Given the description of an element on the screen output the (x, y) to click on. 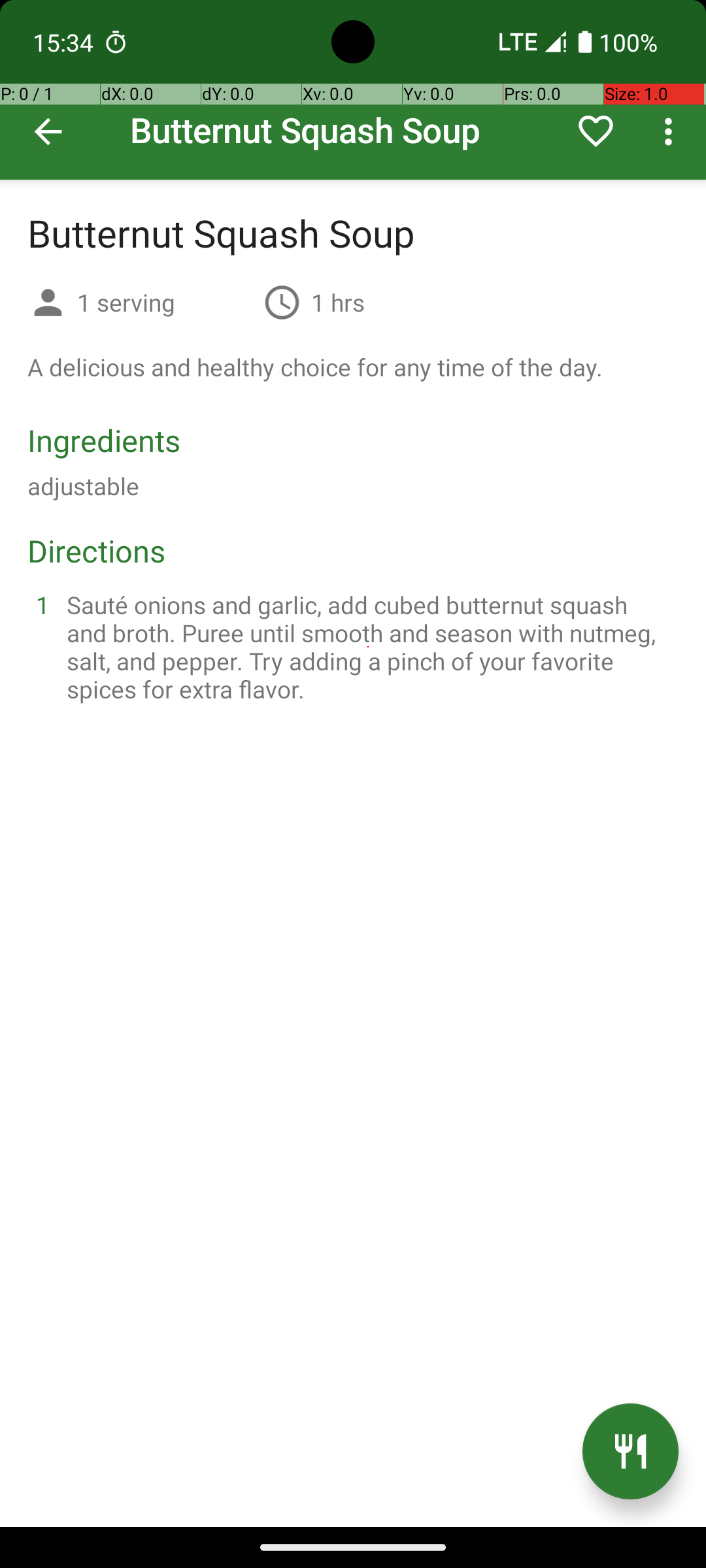
Sauté onions and garlic, add cubed butternut squash and broth. Puree until smooth and season with nutmeg, salt, and pepper. Try adding a pinch of your favorite spices for extra flavor. Element type: android.widget.TextView (368, 646)
